Given the description of an element on the screen output the (x, y) to click on. 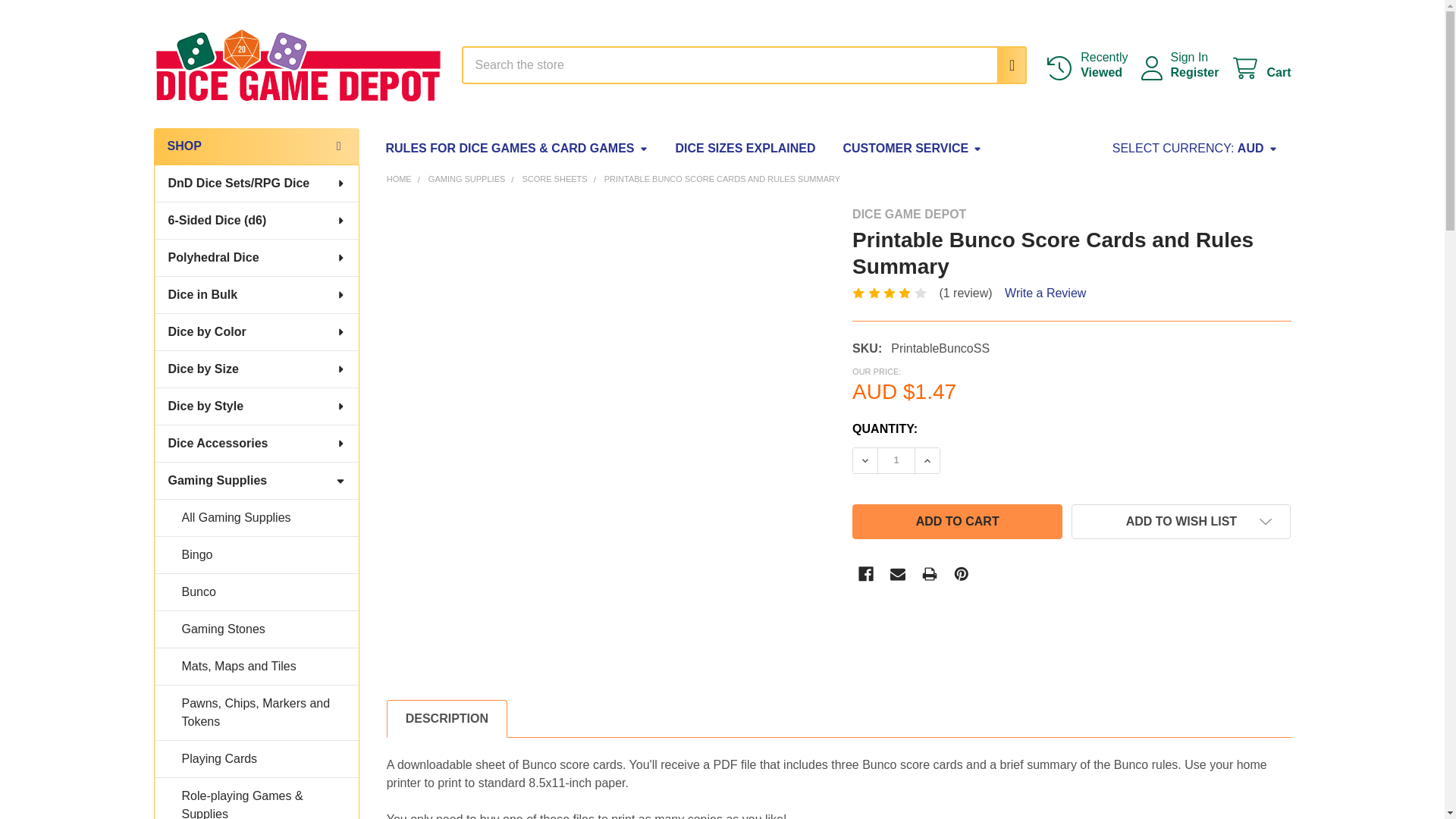
Search (1006, 64)
1 (895, 460)
Add to Cart (956, 521)
Recently Viewed (1085, 64)
Sign In (1189, 57)
Dice Game Depot (297, 65)
Register (1194, 72)
Search (1006, 64)
Cart (1085, 64)
Printable Bunco score sheet (1260, 68)
Facebook (1260, 68)
